Given the description of an element on the screen output the (x, y) to click on. 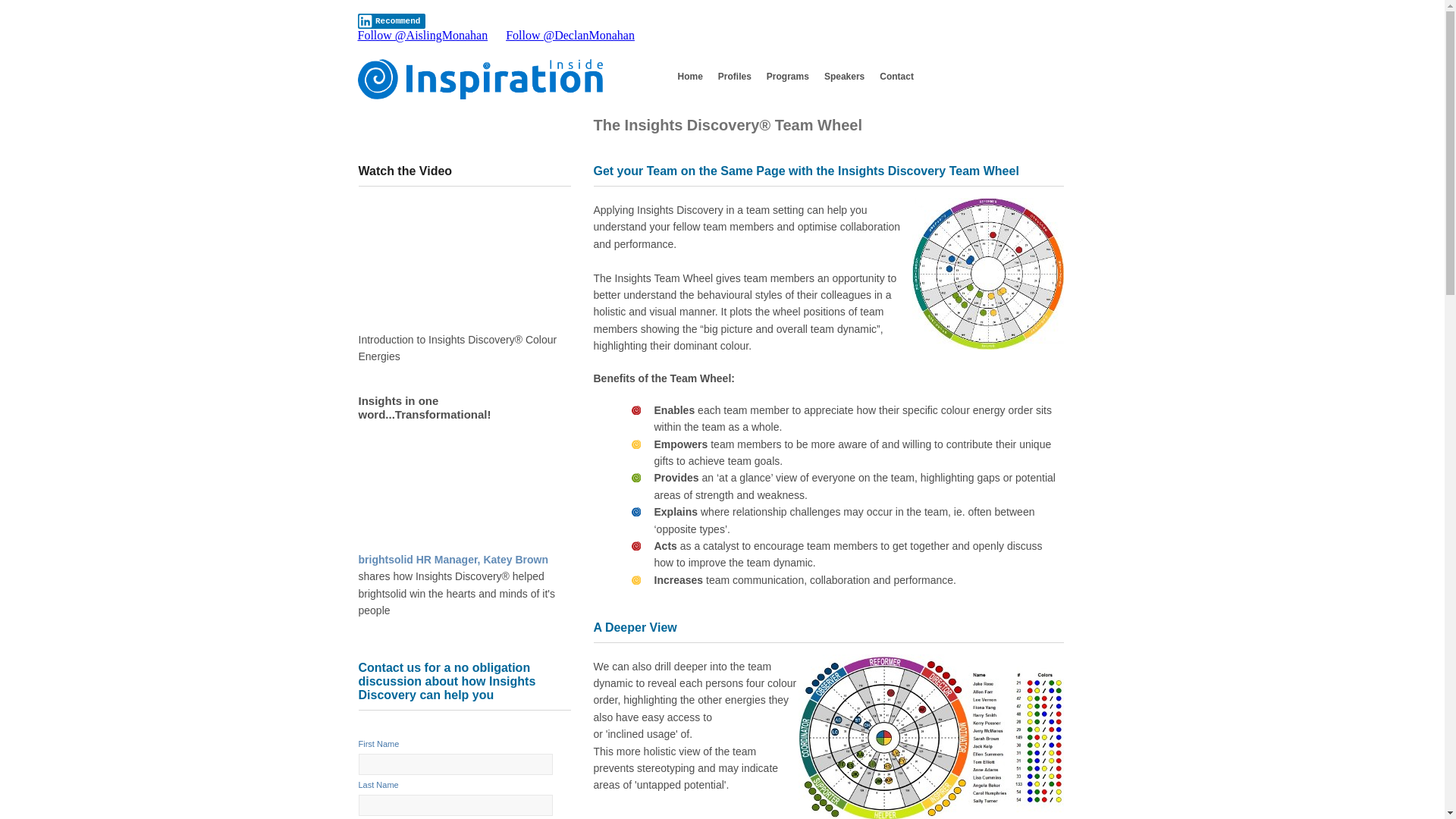
Home Element type: text (690, 76)
Contact Element type: text (896, 76)
Profiles Element type: text (734, 76)
Follow @DeclanMonahan Element type: text (569, 34)
Recommend Element type: text (391, 20)
brightsolid HR Manager, Katey Brown Element type: text (452, 559)
Programs Element type: text (787, 76)
Speakers Element type: text (844, 76)
Follow @AislingMonahan Element type: text (422, 34)
